Given the description of an element on the screen output the (x, y) to click on. 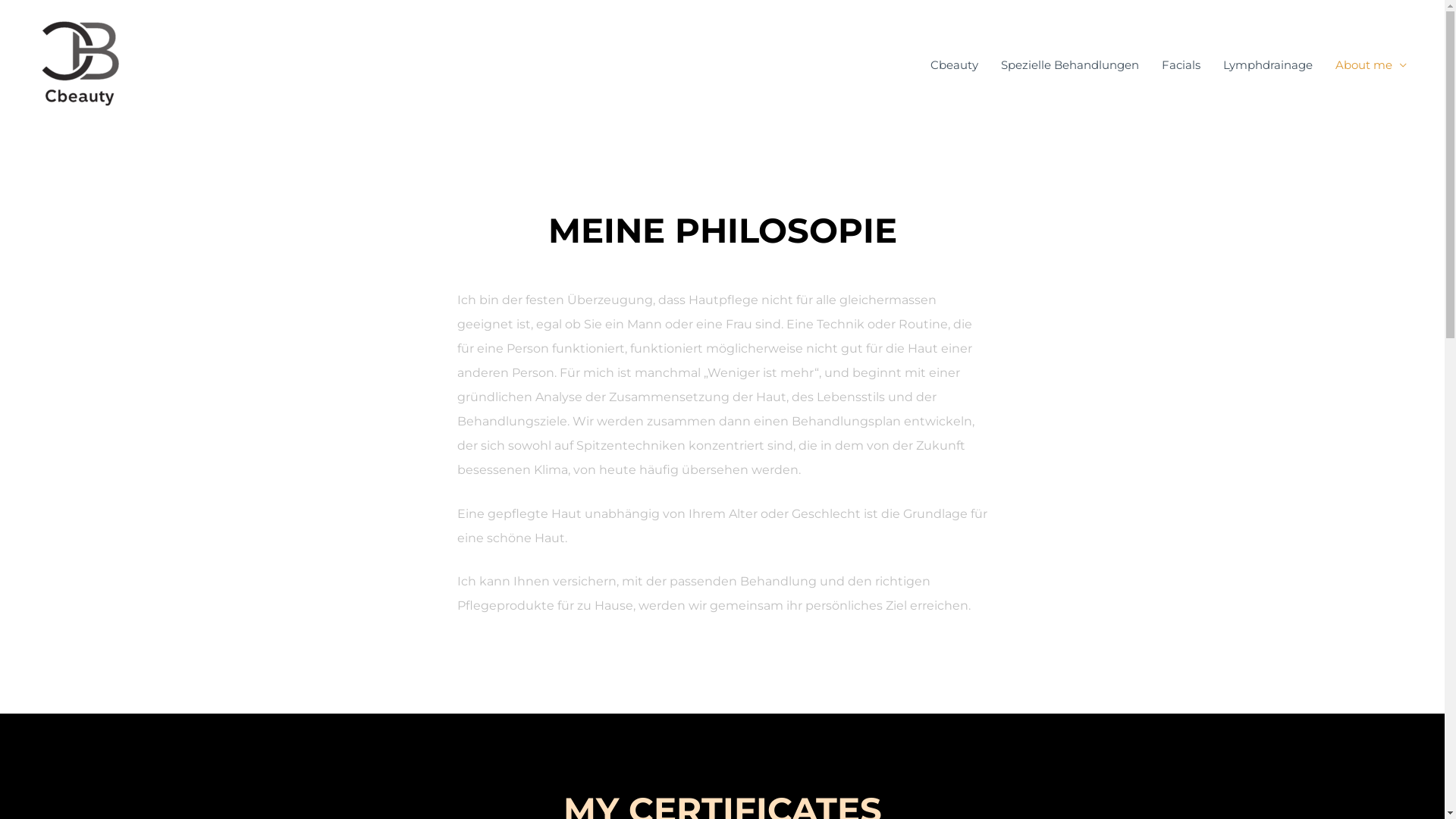
Lymphdrainage Element type: text (1267, 64)
Spezielle Behandlungen Element type: text (1069, 64)
About me Element type: text (1371, 64)
Facials Element type: text (1180, 64)
Cbeauty Element type: text (954, 64)
